Given the description of an element on the screen output the (x, y) to click on. 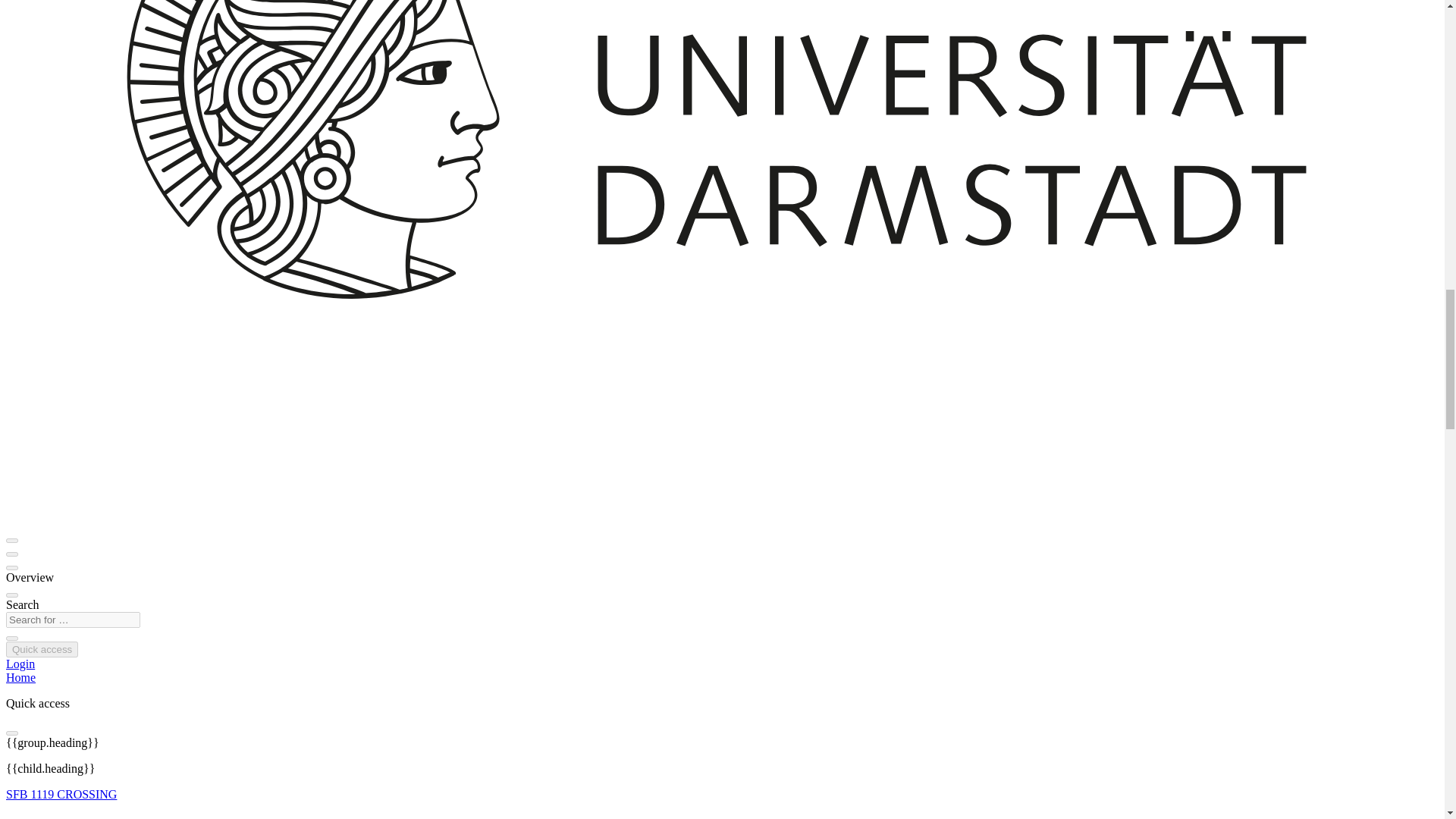
Quick access (41, 649)
Home (19, 676)
Overview (29, 576)
Home (19, 676)
Login (19, 663)
